Given the description of an element on the screen output the (x, y) to click on. 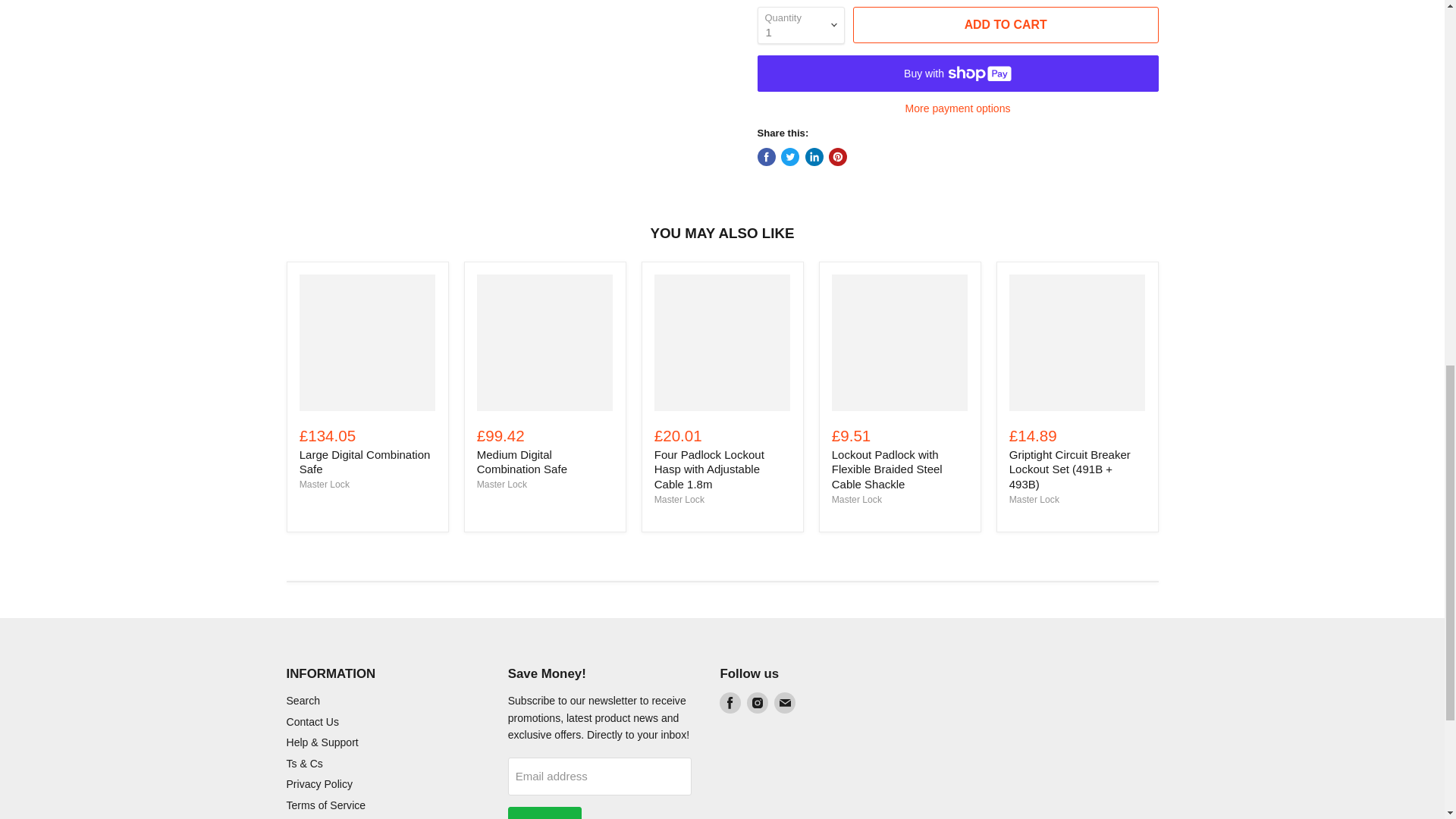
Master Lock (856, 499)
Facebook (730, 702)
Master Lock (502, 484)
Master Lock (1034, 499)
Master Lock (678, 499)
Instagram (757, 702)
Master Lock (324, 484)
Email (784, 702)
